Given the description of an element on the screen output the (x, y) to click on. 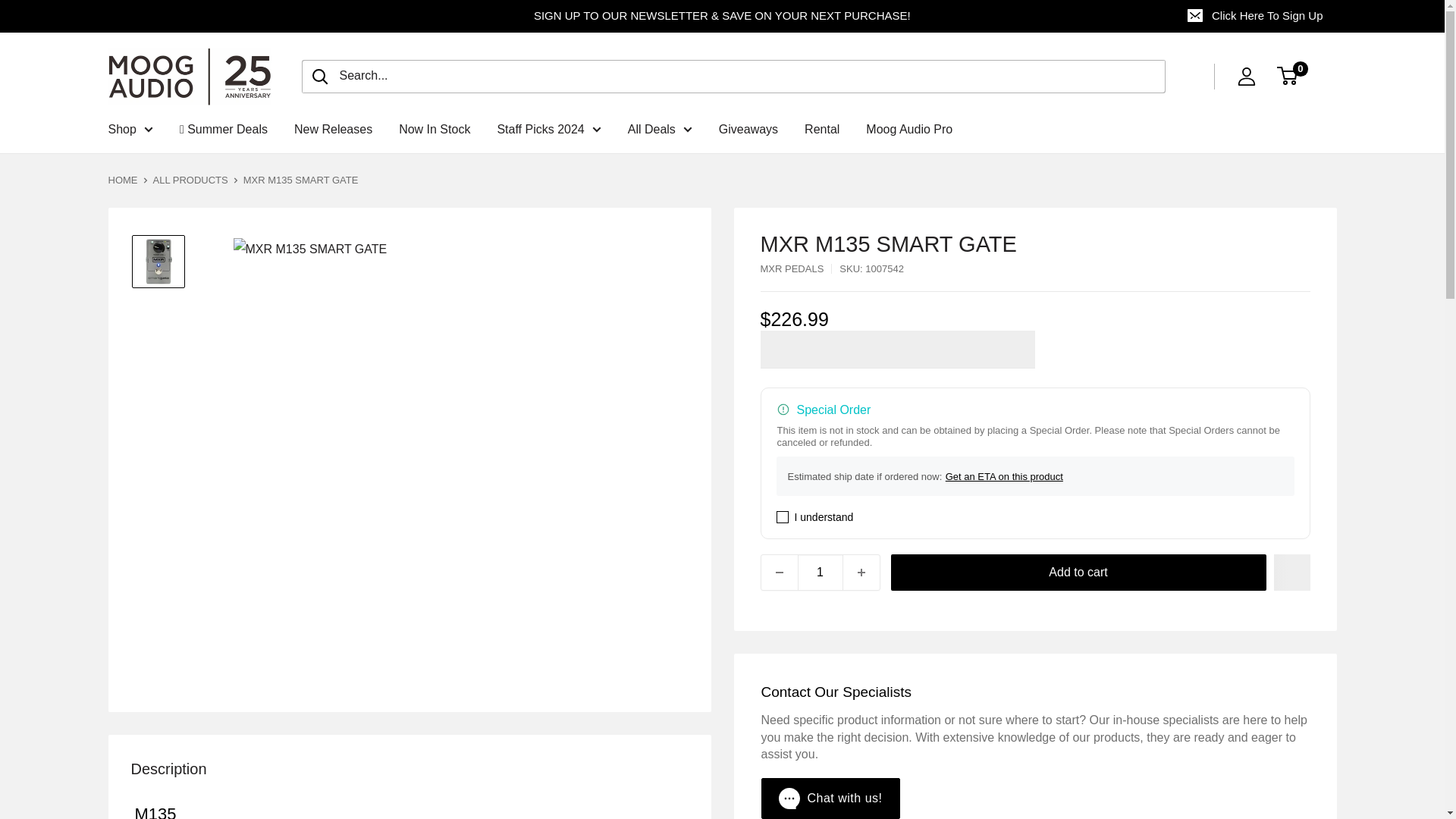
Decrease quantity by 1 (779, 572)
1 (820, 572)
Increase quantity by 1 (861, 572)
Click Here To Sign Up (1256, 15)
on (782, 517)
